Given the description of an element on the screen output the (x, y) to click on. 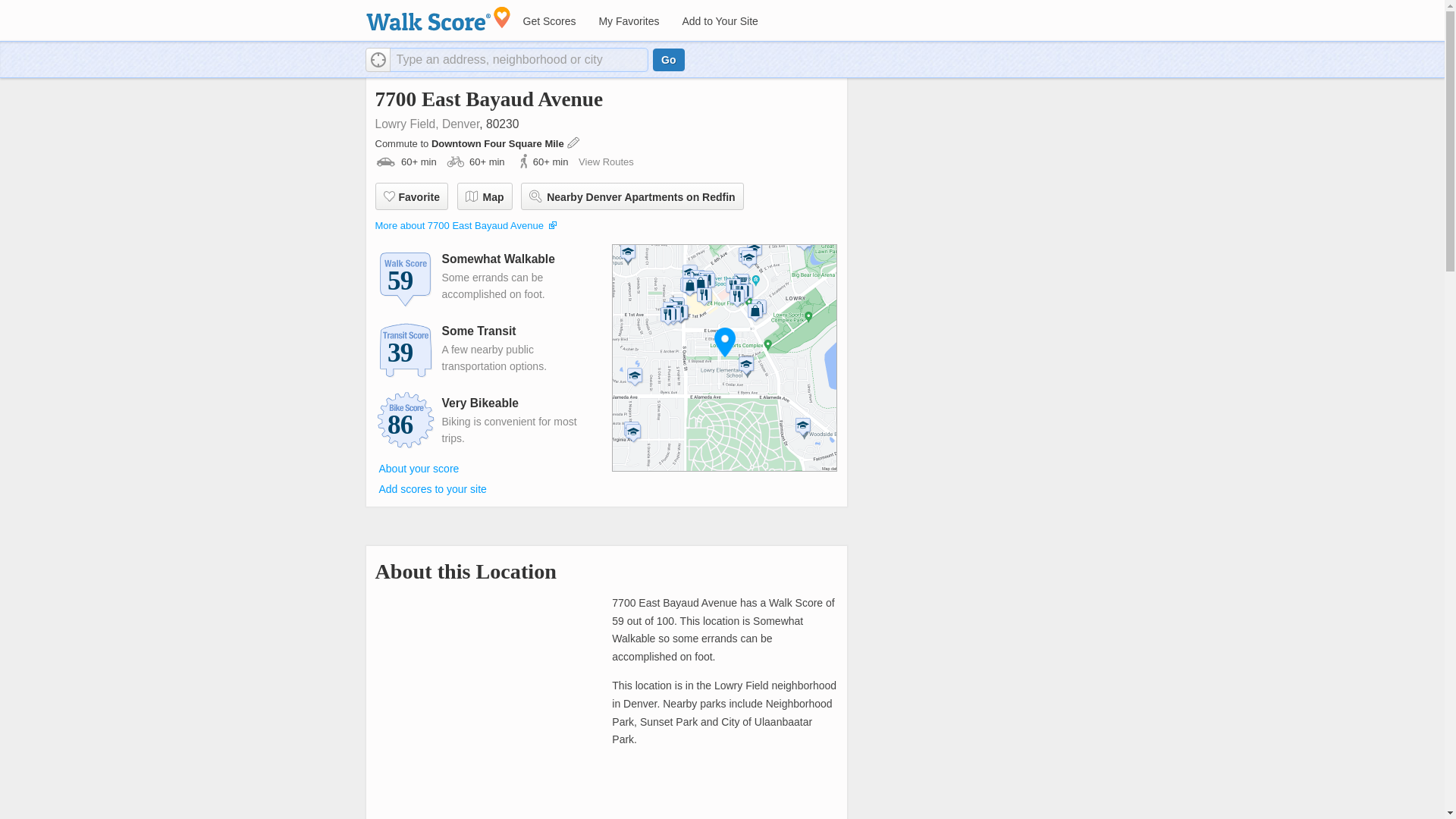
More about 7700 East Bayaud Avenue (458, 225)
Add to Your Site (719, 21)
Add scores to your site (432, 489)
Go (668, 59)
Nearby Denver Apartments on Redfin (631, 195)
Get Scores (548, 21)
My Favorites (628, 21)
Lowry Field, (406, 123)
About your score (419, 468)
Map (484, 195)
Favorite (410, 195)
Downtown Four Square Mile (498, 143)
View Routes (605, 161)
Denver (460, 123)
